Given the description of an element on the screen output the (x, y) to click on. 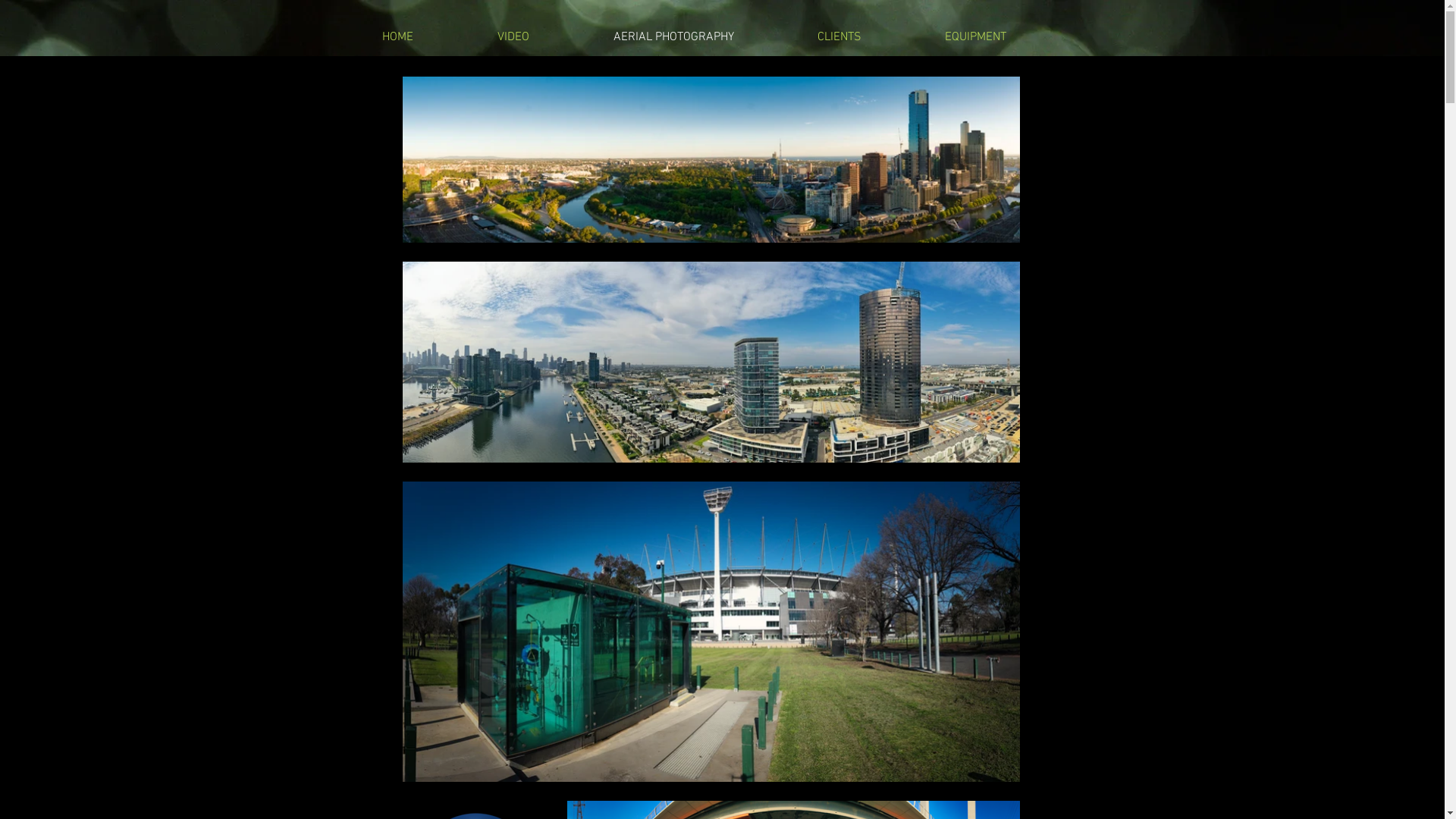
HOME Element type: text (427, 37)
AERIAL PHOTOGRAPHY Element type: text (704, 37)
CLIENTS Element type: text (868, 37)
VIDEO Element type: text (543, 37)
EQUIPMENT Element type: text (1004, 37)
